Given the description of an element on the screen output the (x, y) to click on. 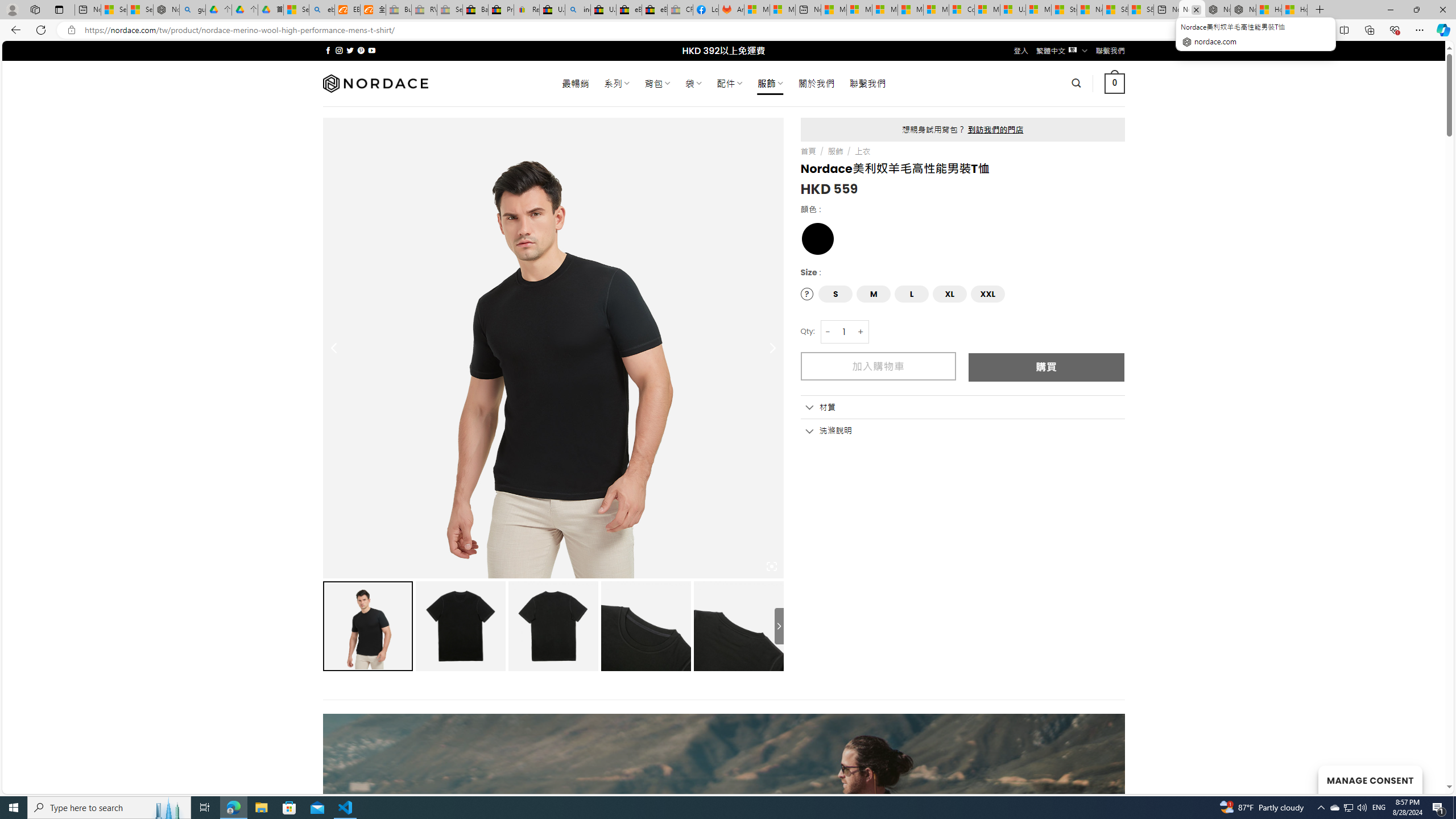
Baby Keepsakes & Announcements for sale | eBay (475, 9)
Copilot (Ctrl+Shift+.) (1442, 29)
guge yunpan - Search (192, 9)
Restore (1416, 9)
How to Use a Monitor With Your Closed Laptop (1293, 9)
- (827, 331)
